Given the description of an element on the screen output the (x, y) to click on. 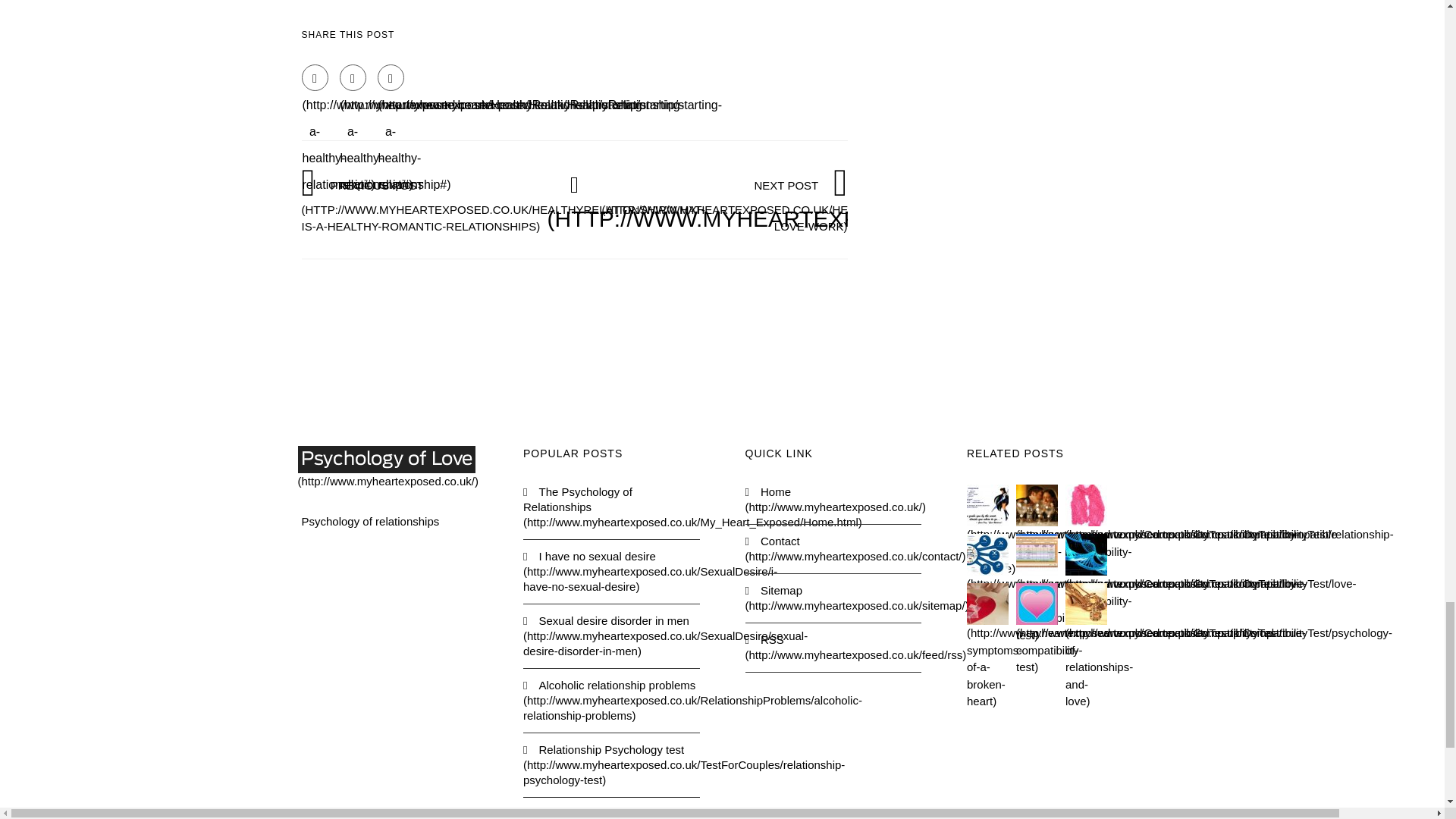
NEXT POST (809, 205)
Facebook (315, 77)
PREVIOUS POST (502, 205)
Google Plus (390, 77)
Twitter (352, 77)
